Given the description of an element on the screen output the (x, y) to click on. 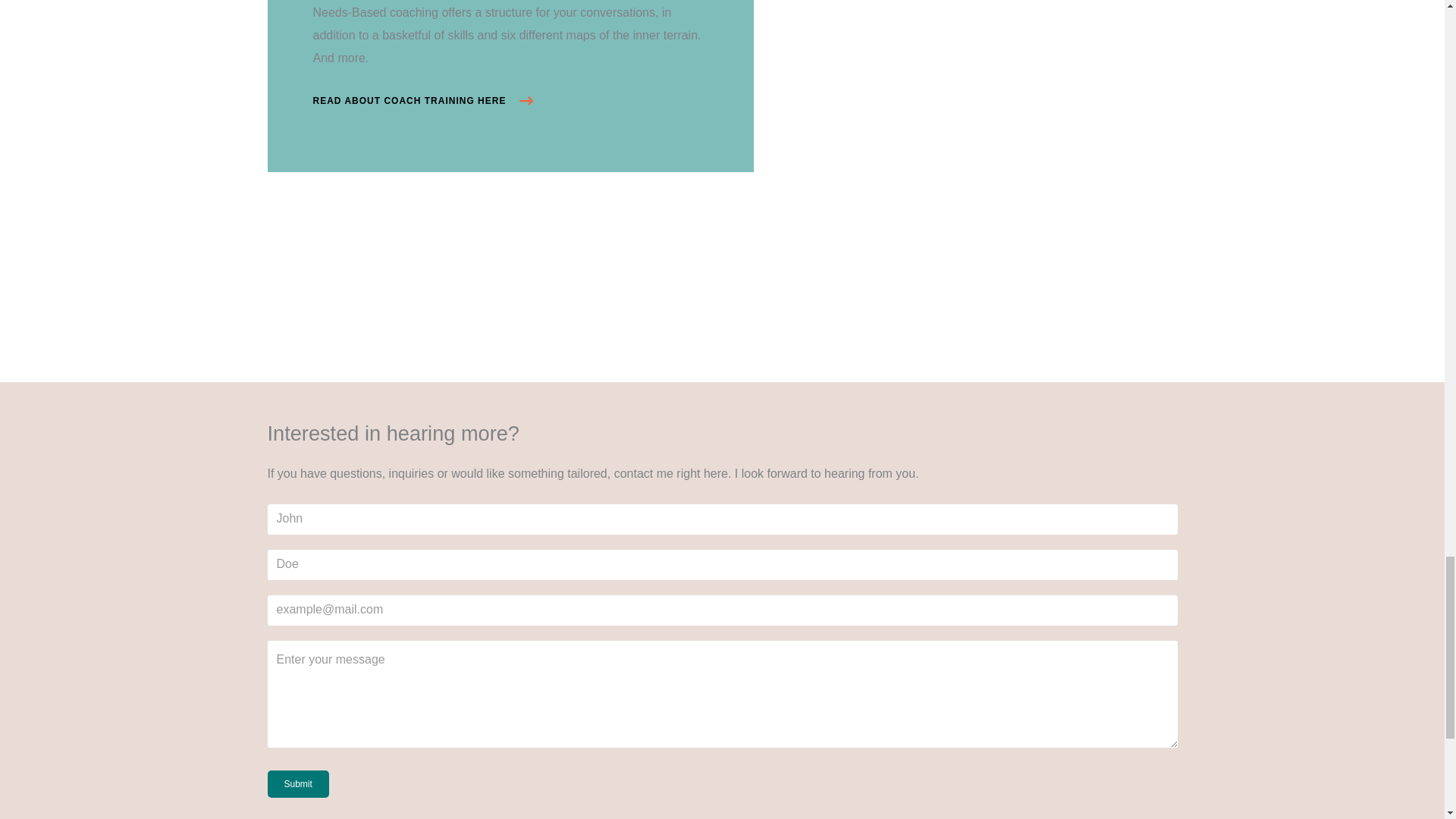
READ ABOUT COACH TRAINING HERE (422, 100)
